Given the description of an element on the screen output the (x, y) to click on. 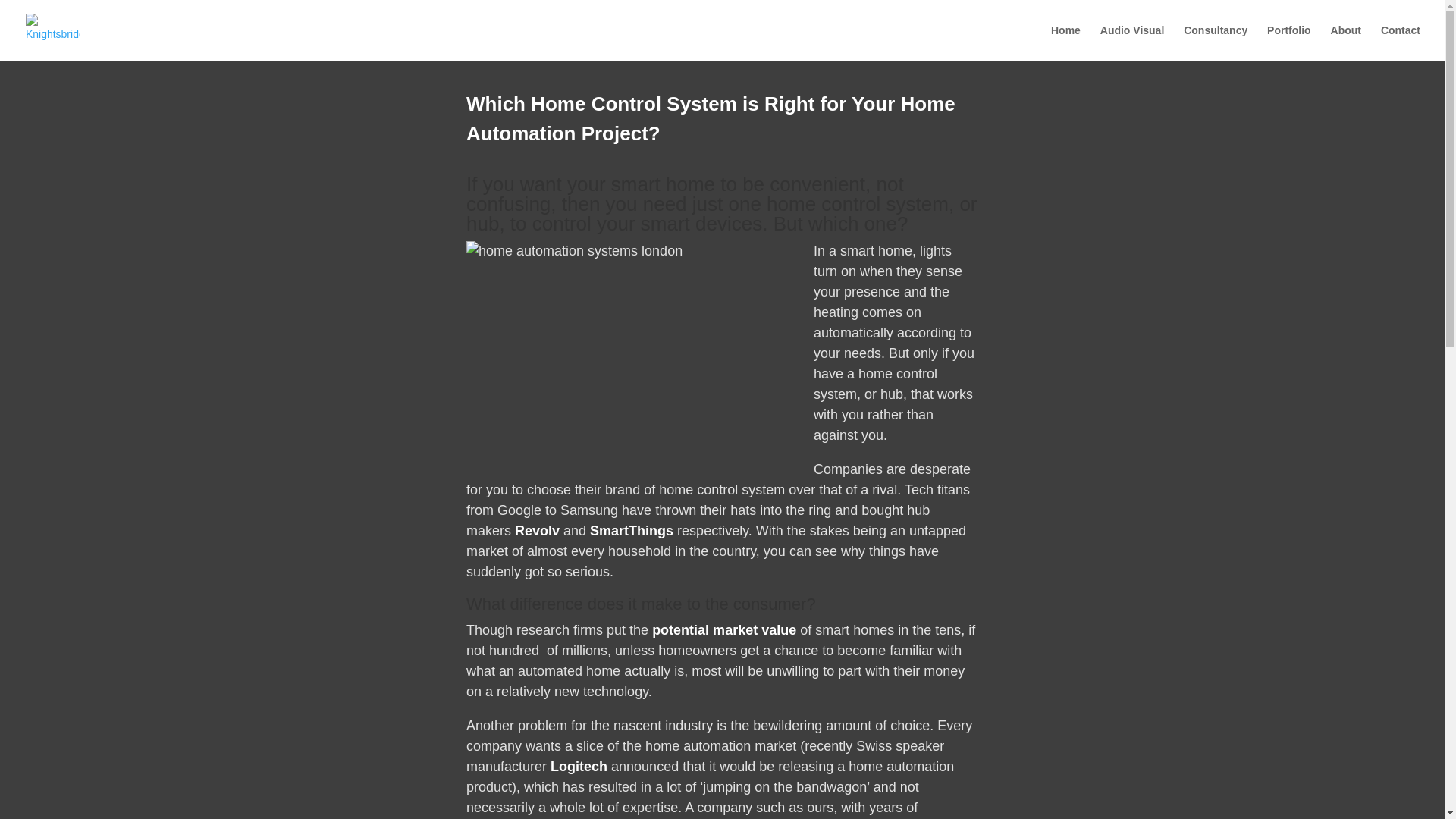
potential market value (724, 630)
Logitech (578, 766)
Portfolio (1288, 42)
Contact (1400, 42)
Consultancy (1215, 42)
Audio Visual (1132, 42)
SmartThings (630, 530)
Revolv (537, 530)
